Given the description of an element on the screen output the (x, y) to click on. 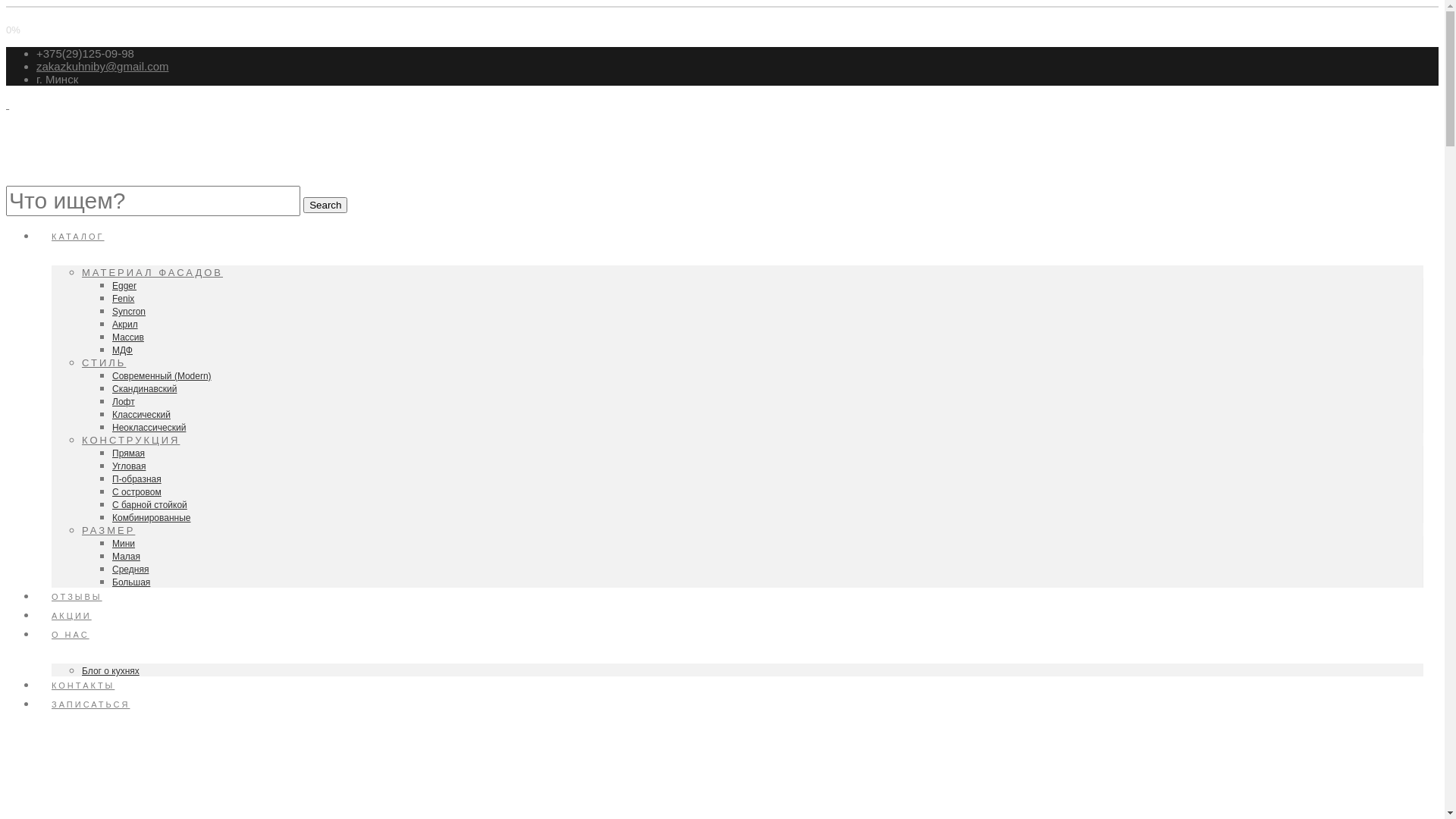
Search Element type: text (325, 205)
zakazkuhniby@gmail.com Element type: text (102, 65)
Syncron Element type: text (128, 311)
Fenix Element type: text (123, 298)
Egger Element type: text (124, 285)
